Given the description of an element on the screen output the (x, y) to click on. 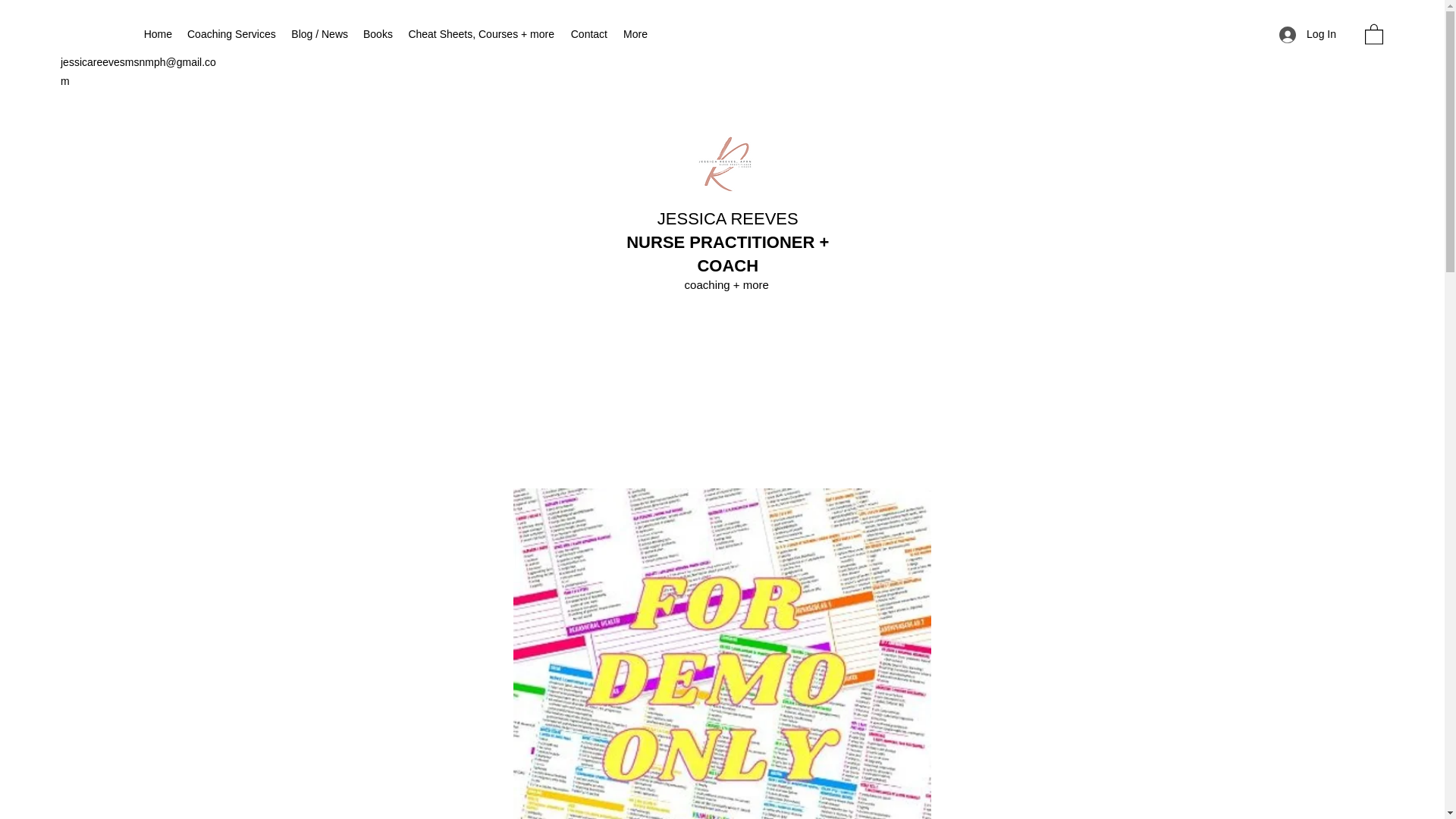
Coaching Services (230, 33)
Contact (588, 33)
Home (157, 33)
Log In (1307, 34)
Books (376, 33)
